Given the description of an element on the screen output the (x, y) to click on. 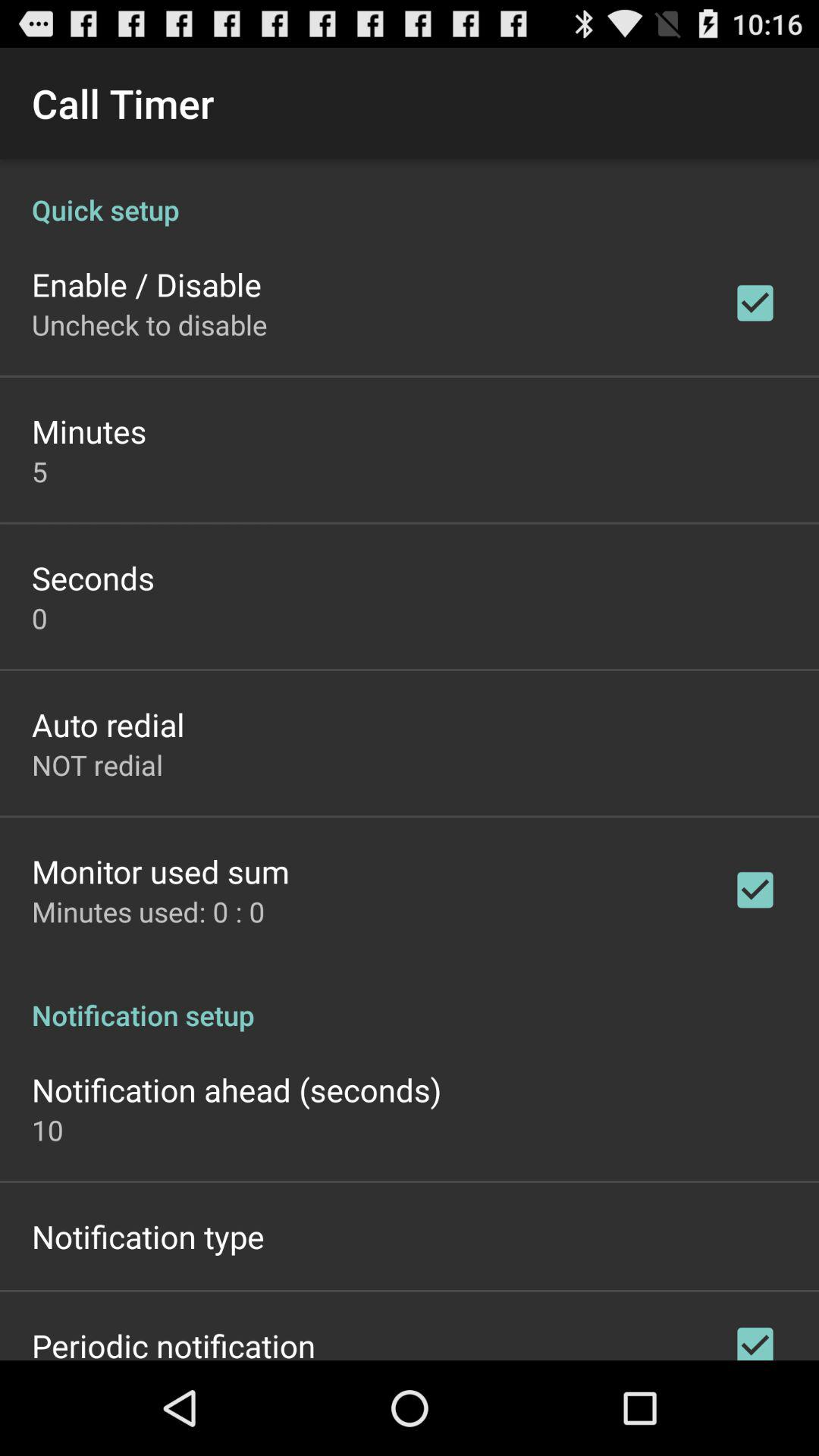
press icon below the call timer app (409, 193)
